Given the description of an element on the screen output the (x, y) to click on. 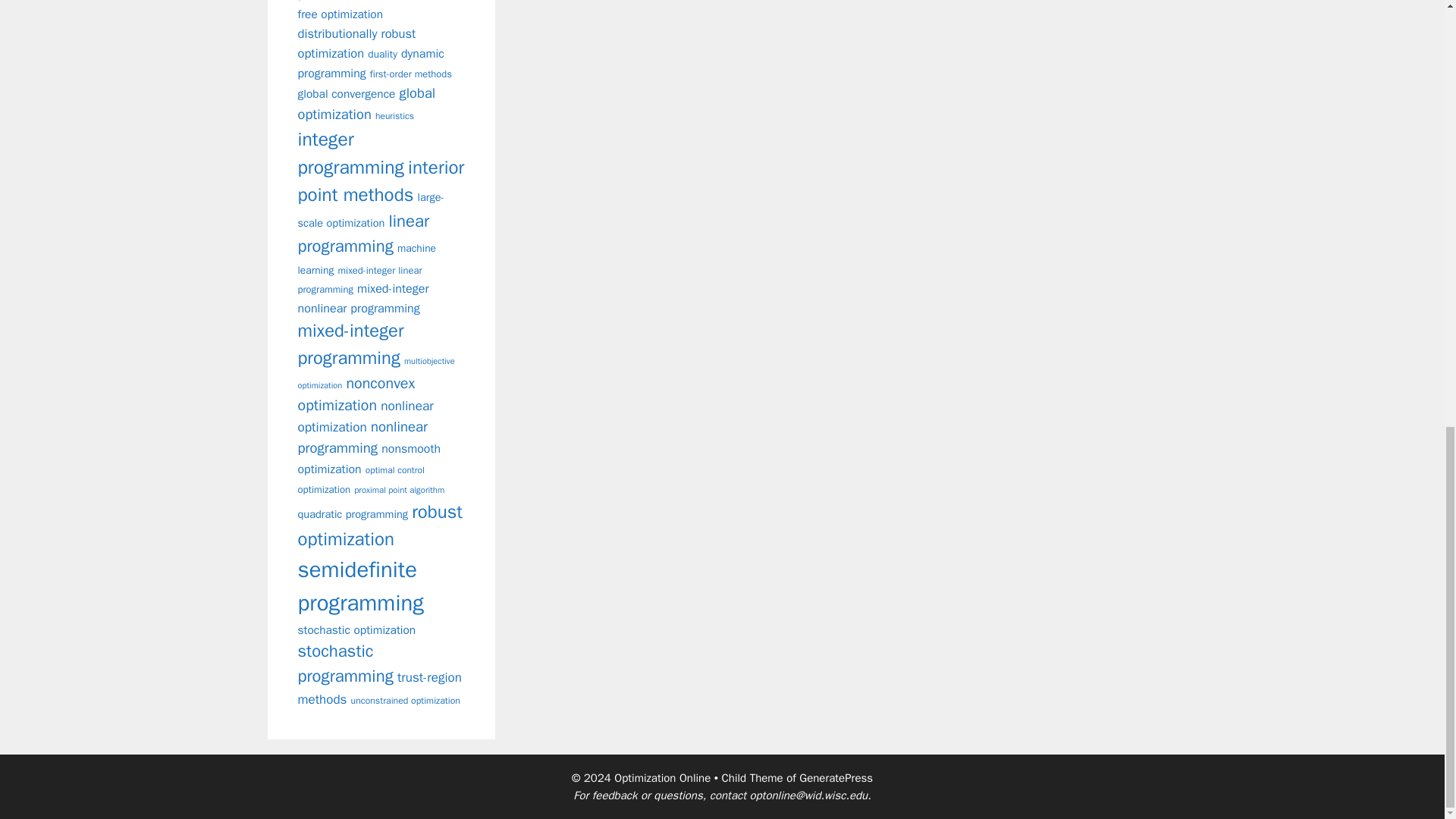
cutting planes (372, 1)
derivative-free optimization (378, 11)
decomposition (375, 0)
